Given the description of an element on the screen output the (x, y) to click on. 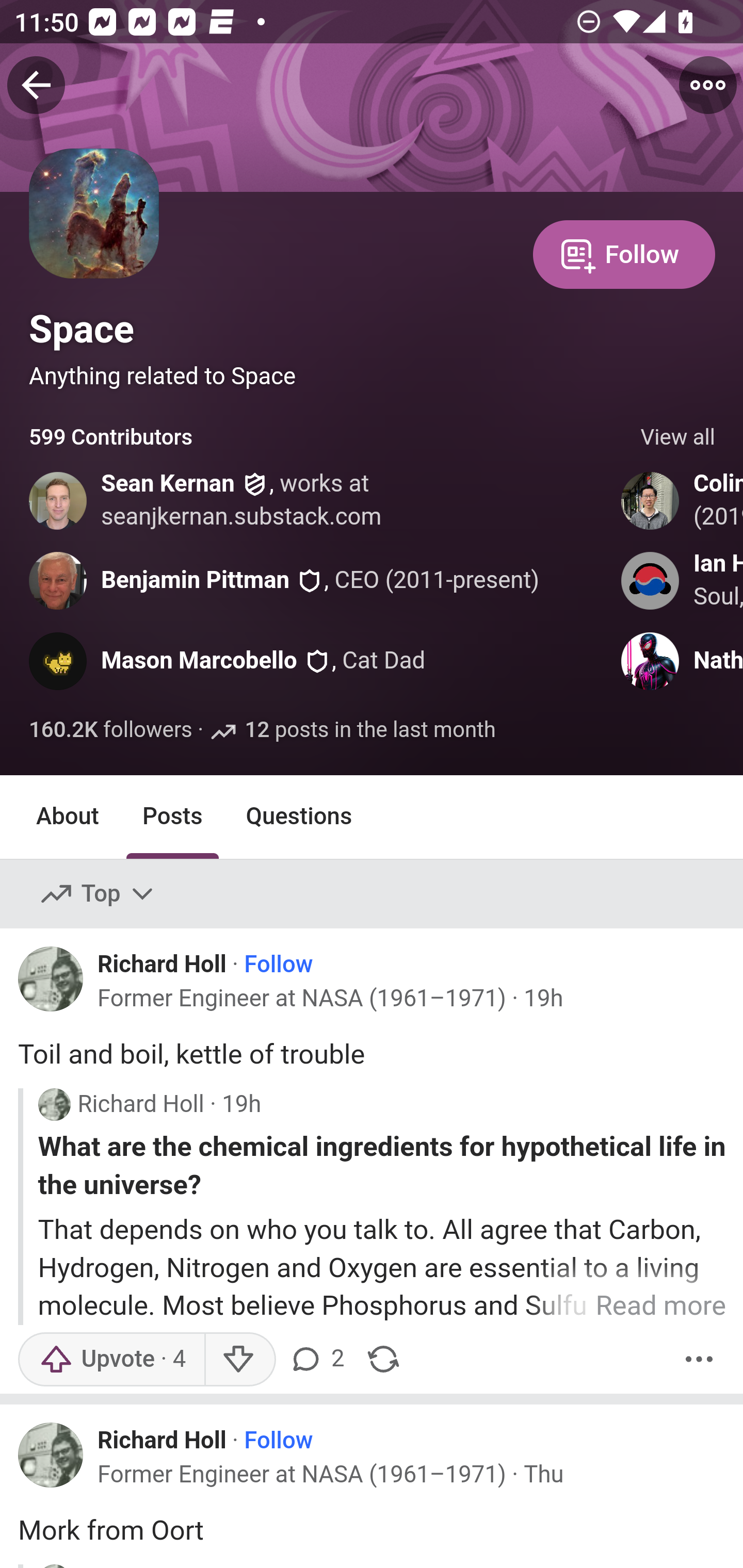
Follow (623, 252)
Space (81, 329)
View all (677, 437)
Sean Kernan (167, 484)
Profile photo for Sean Kernan (58, 499)
Profile photo for Colin Zhou (650, 499)
Profile photo for Benjamin Pittman (58, 579)
Profile photo for Ian Howe (650, 579)
Benjamin Pittman (195, 579)
Profile photo for Mason Marcobello (58, 661)
Profile photo for Nathan Stanish (650, 661)
Mason Marcobello (199, 660)
About (68, 816)
Posts (171, 816)
Questions (299, 816)
Top (97, 894)
Profile photo for Richard Holl (50, 978)
Richard Holl (162, 963)
Follow (278, 964)
Profile photo for Richard Holl (54, 1103)
Upvote (111, 1358)
Downvote (238, 1358)
2 comments (319, 1358)
Share (383, 1358)
More (699, 1358)
Profile photo for Richard Holl (50, 1454)
Richard Holl (162, 1440)
Follow (278, 1440)
